Given the description of an element on the screen output the (x, y) to click on. 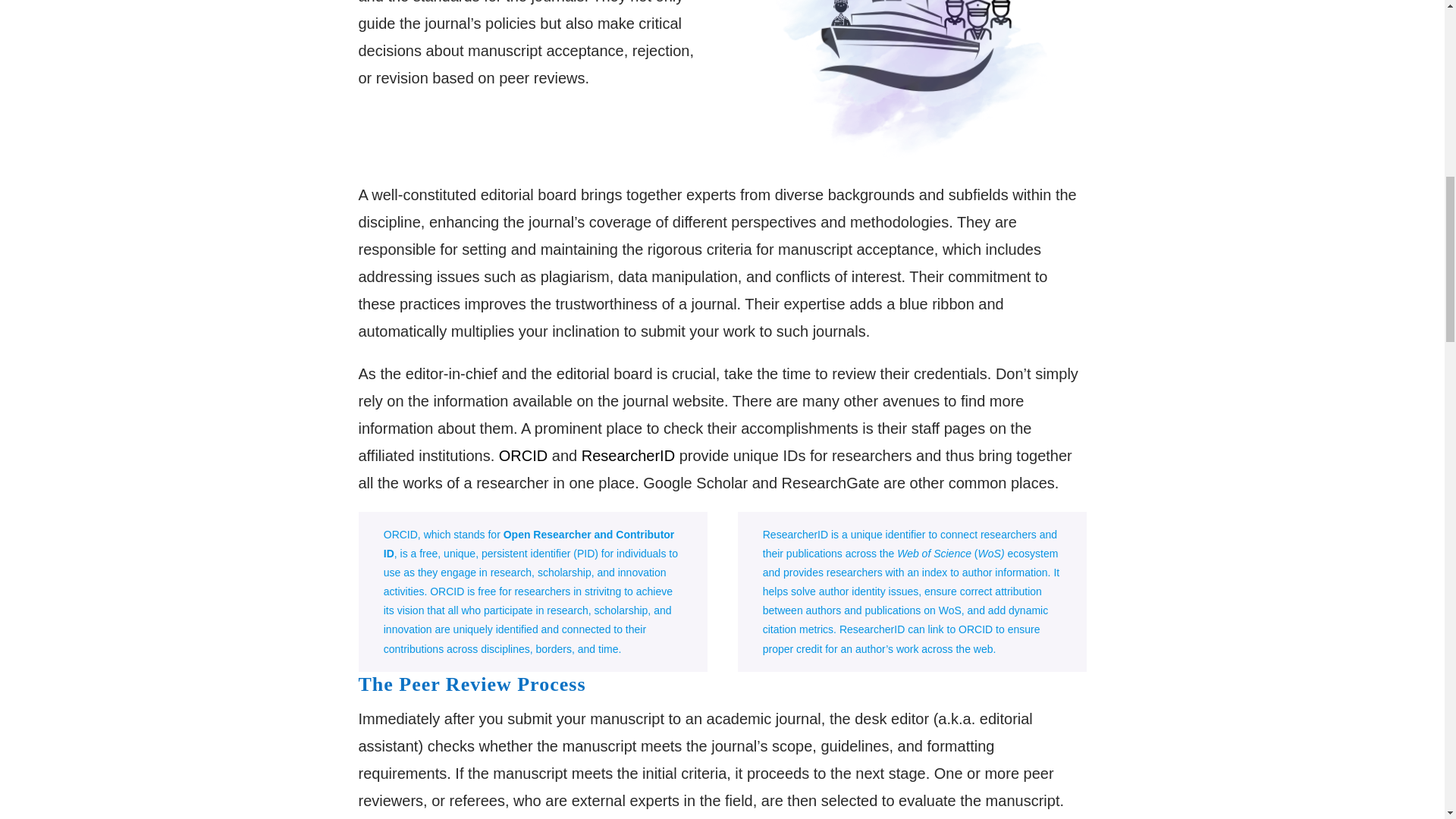
ResearcherID (627, 455)
ORCID (523, 455)
